Given the description of an element on the screen output the (x, y) to click on. 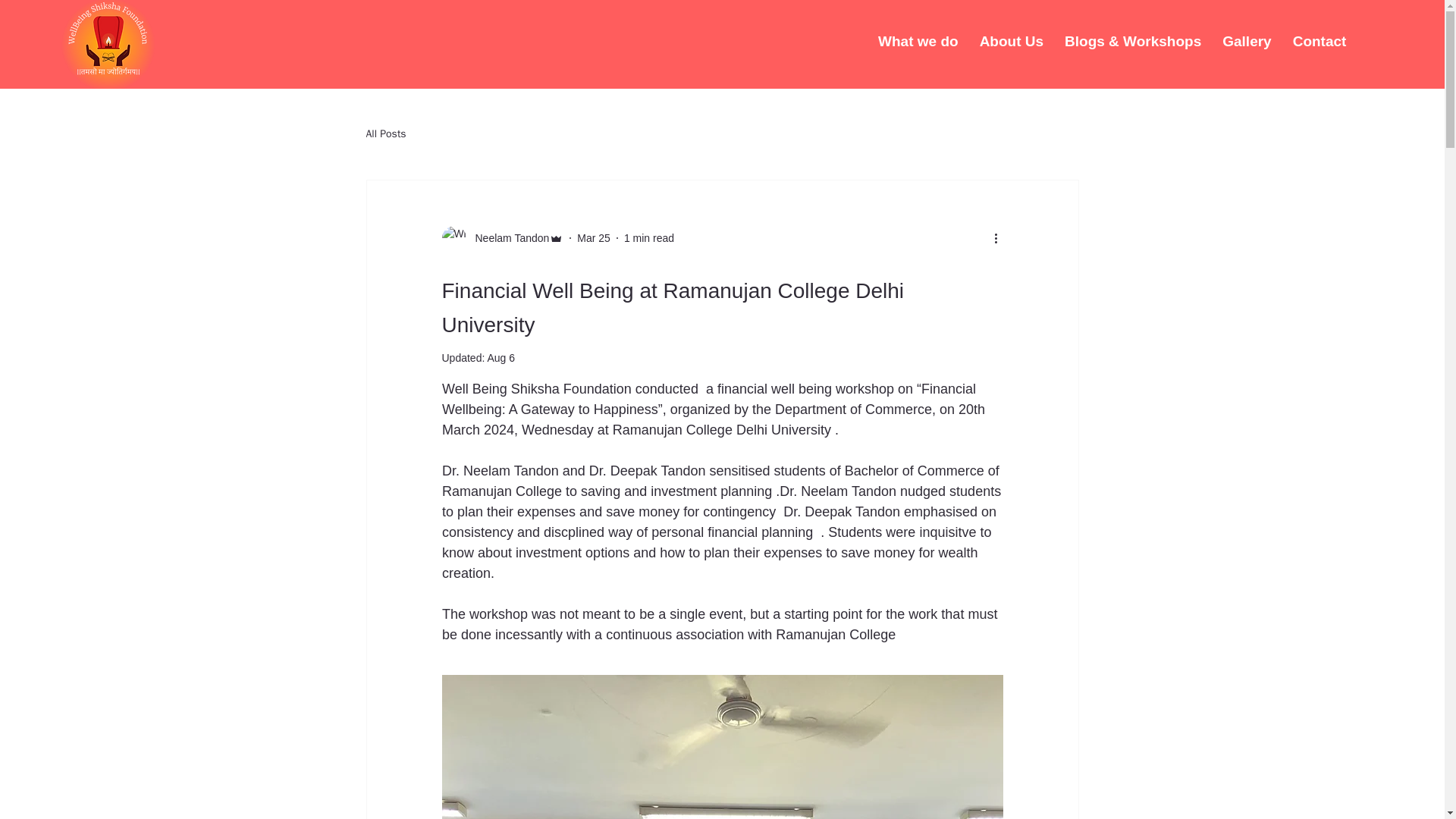
Aug 6 (500, 357)
Mar 25 (593, 237)
Neelam  Tandon (506, 238)
About Us (1011, 41)
Contact (1319, 41)
1 min read (649, 237)
Gallery (1246, 41)
All Posts (385, 133)
What we do (918, 41)
